Given the description of an element on the screen output the (x, y) to click on. 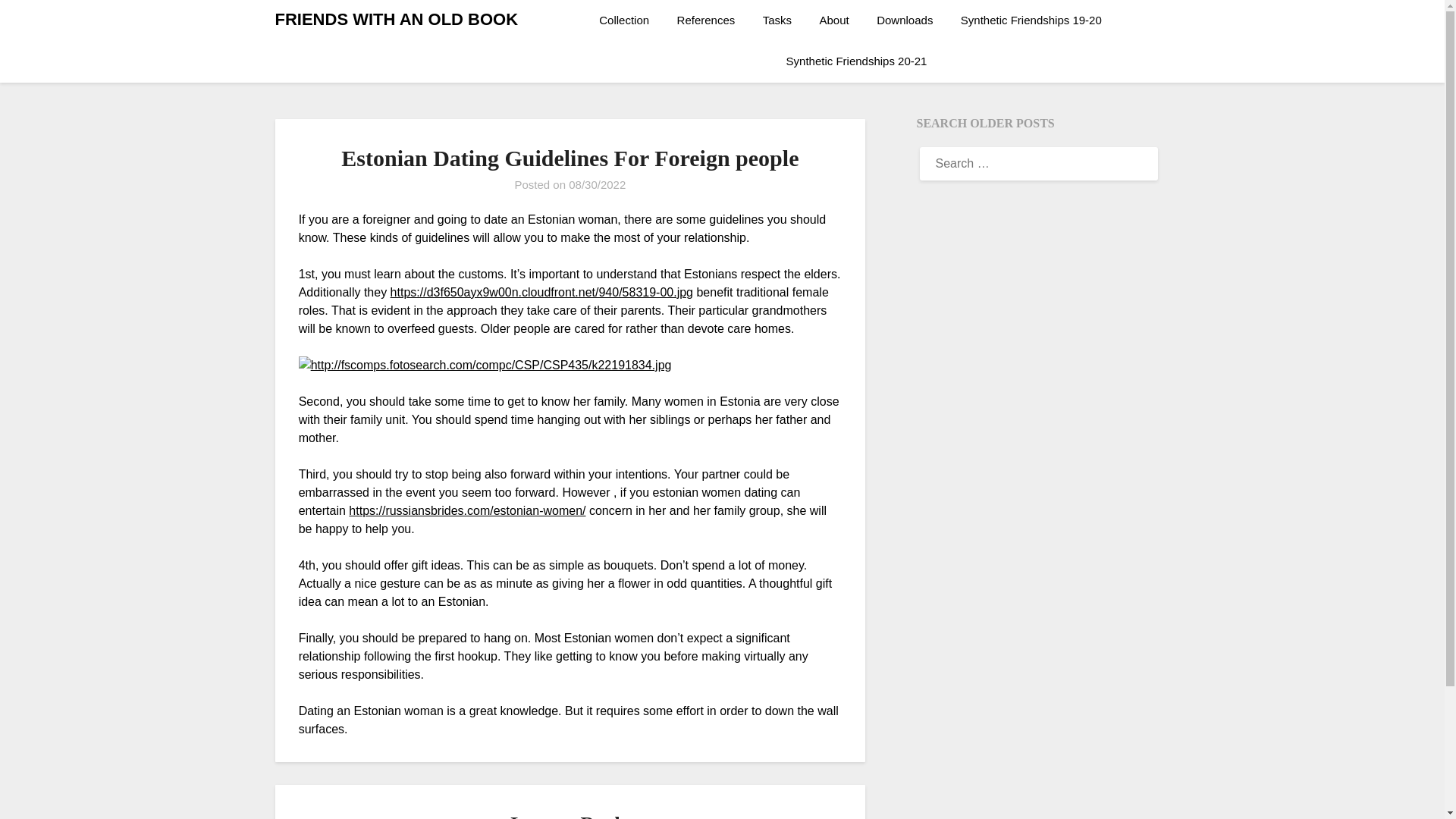
Search (38, 22)
Downloads (904, 20)
About (834, 20)
Collection (629, 20)
Synthetic Friendships 19-20 (1031, 20)
Tasks (777, 20)
References (706, 20)
FRIENDS WITH AN OLD BOOK (396, 19)
Synthetic Friendships 20-21 (856, 60)
